Given the description of an element on the screen output the (x, y) to click on. 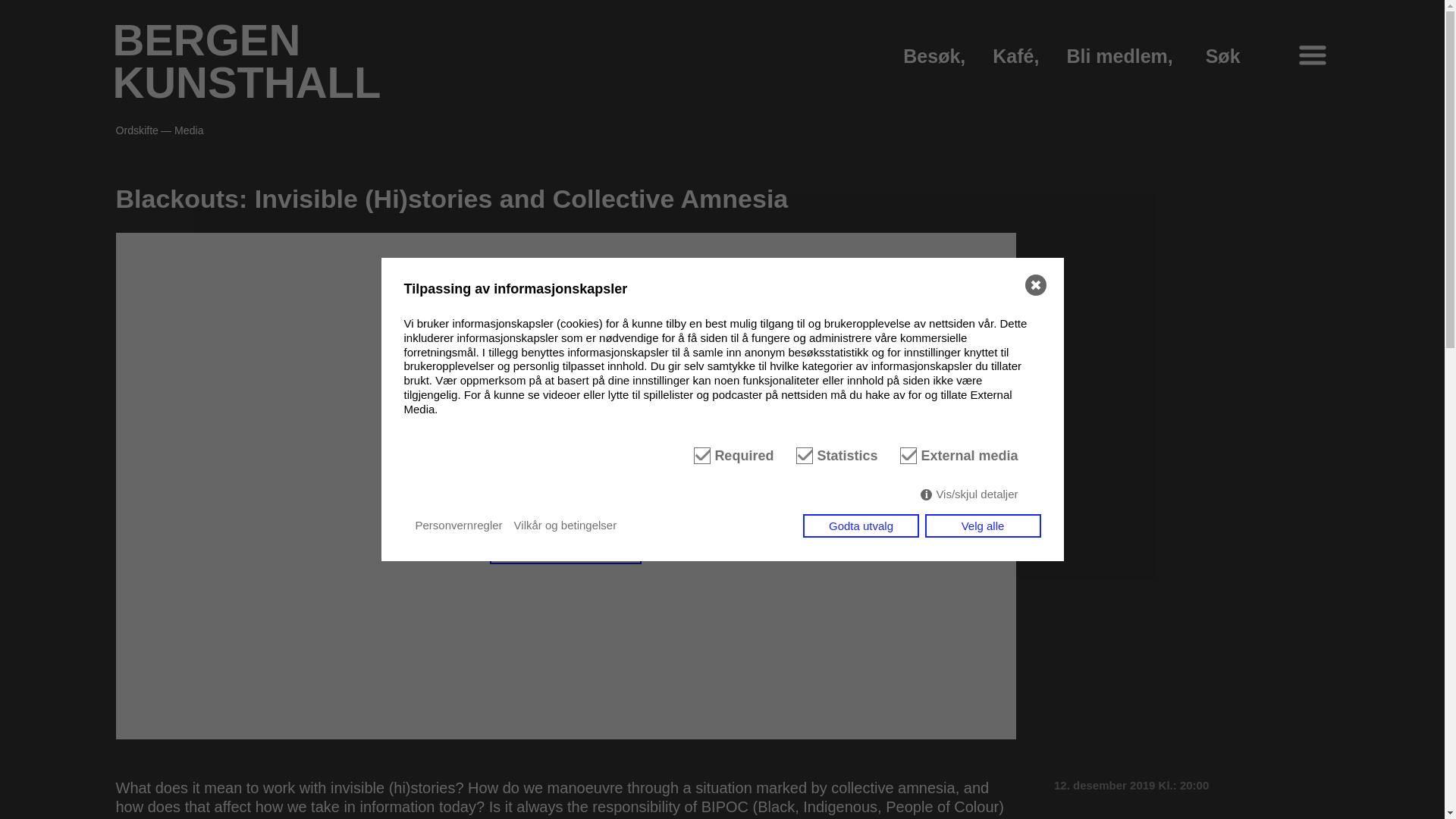
Bli medlem (1116, 55)
Rediger personverninnstillingene (246, 61)
Media (565, 533)
